Given the description of an element on the screen output the (x, y) to click on. 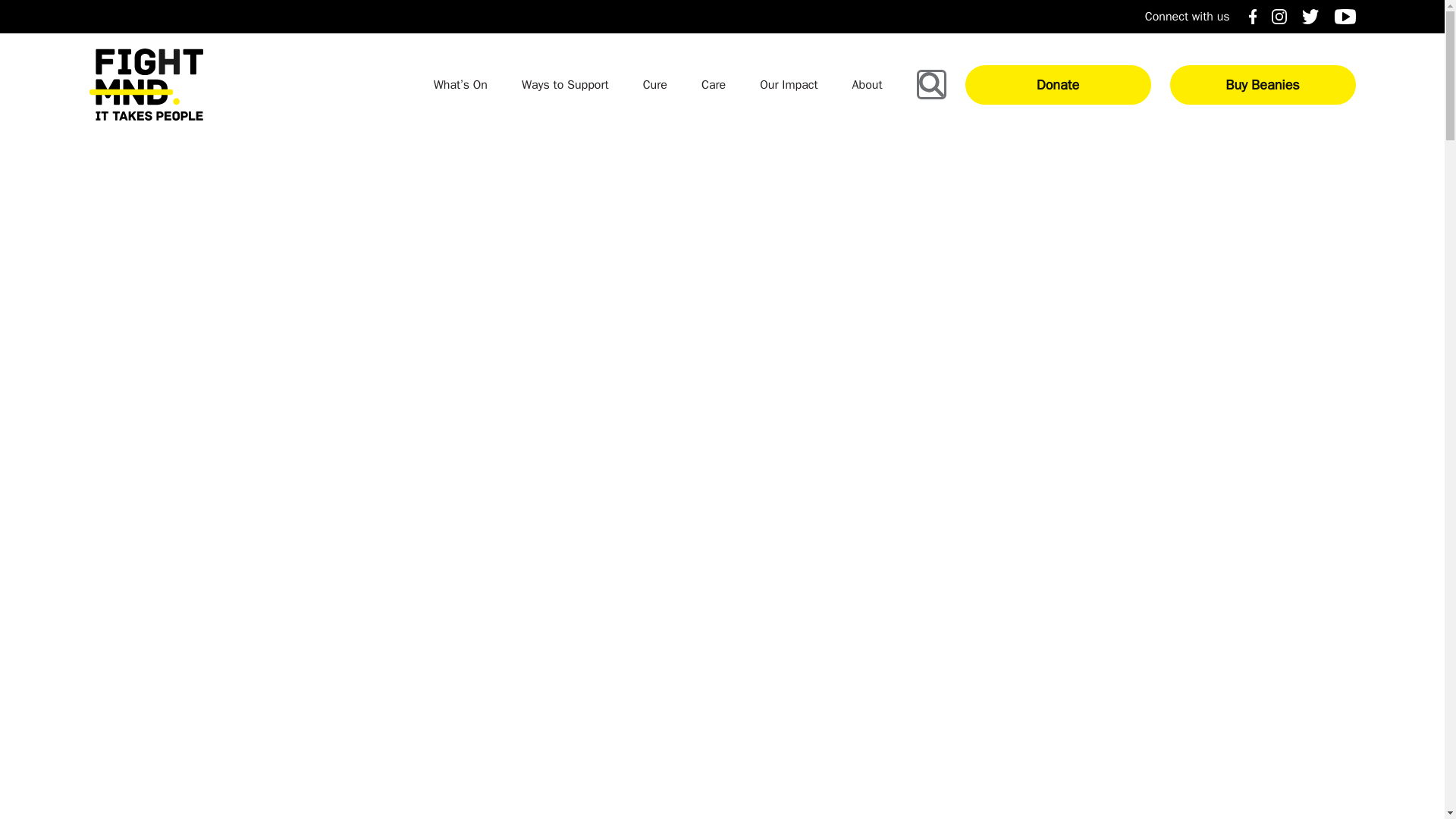
Cure (654, 84)
Our Impact (788, 84)
Ways to Support (564, 84)
Care (713, 84)
About (866, 84)
